Given the description of an element on the screen output the (x, y) to click on. 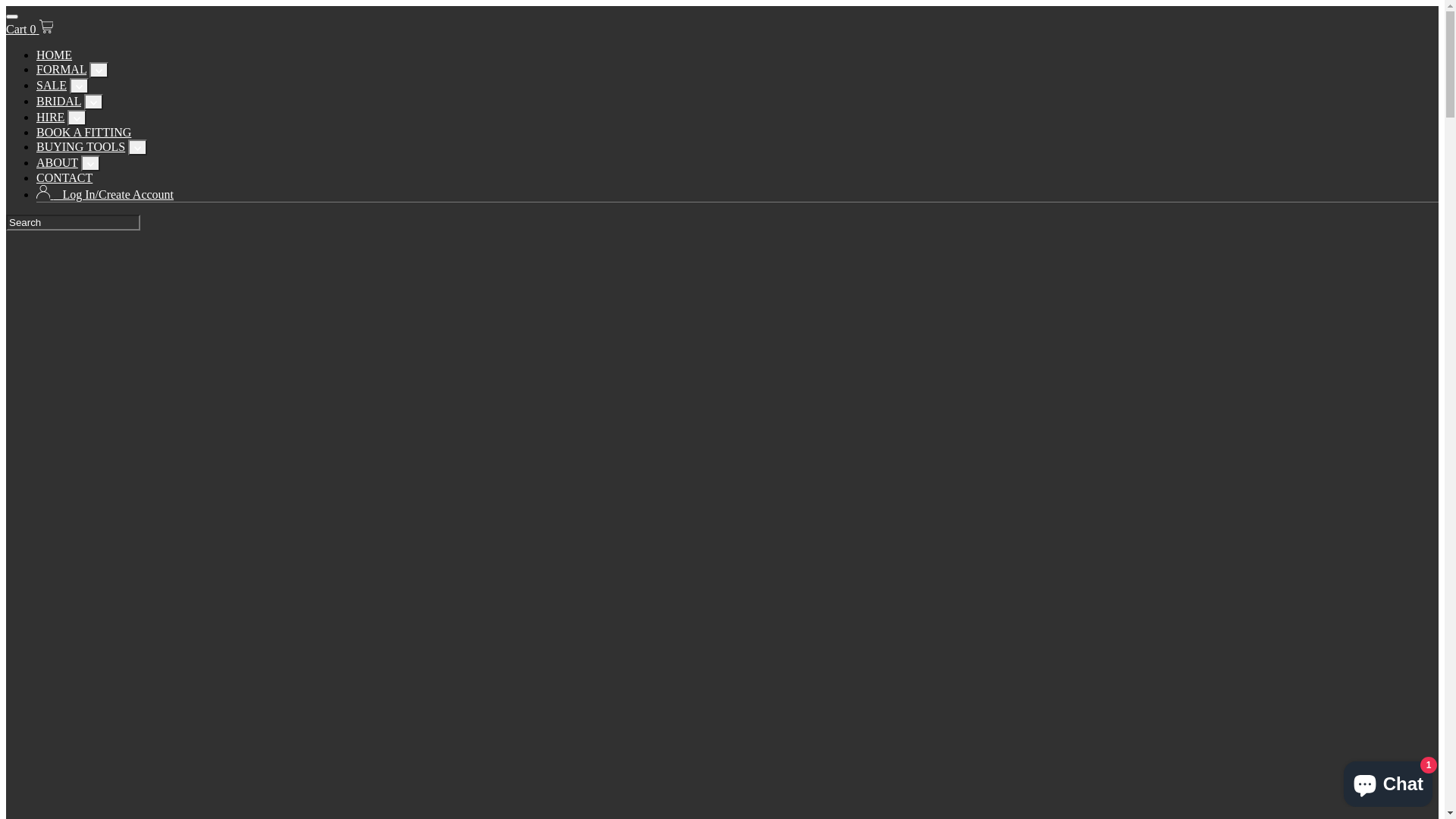
BOOK A FITTING Element type: text (83, 131)
Shopify online store chat Element type: hover (1388, 780)
CONTACT Element type: text (64, 177)
BUYING TOOLS Element type: text (80, 146)
HOME Element type: text (54, 54)
SALE Element type: text (51, 84)
ABOUT Element type: text (57, 162)
HIRE Element type: text (50, 116)
FORMAL Element type: text (61, 68)
BRIDAL Element type: text (58, 100)
